Given the description of an element on the screen output the (x, y) to click on. 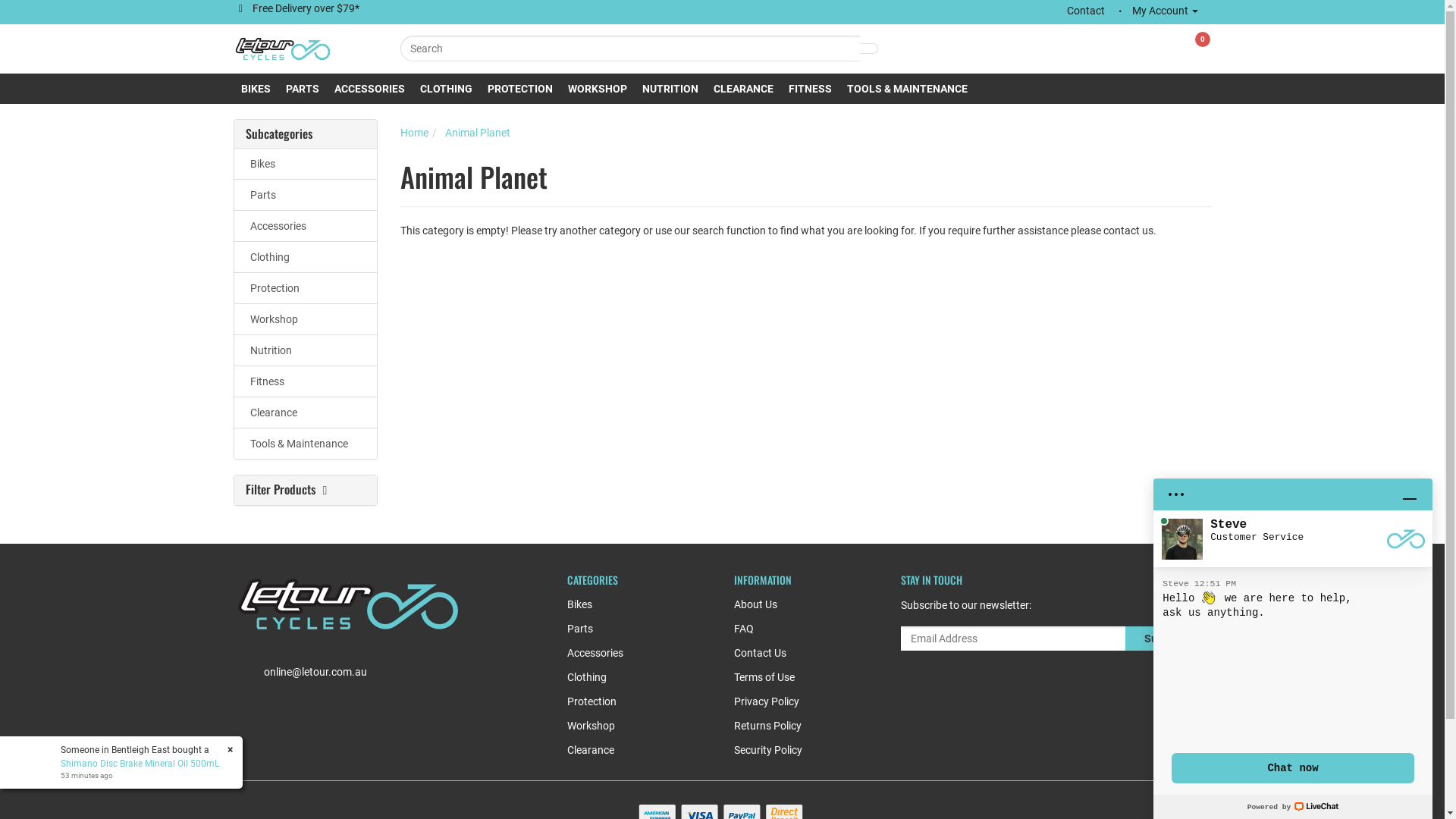
Parts Element type: text (632, 632)
FAQ Element type: text (799, 632)
  Parts Element type: text (304, 194)
NUTRITION Element type: text (669, 88)
BIKES Element type: text (255, 88)
FITNESS Element type: text (810, 88)
ACCESSORIES Element type: text (368, 88)
Filter Products Element type: text (305, 490)
  Workshop Element type: text (304, 318)
0 Element type: text (1202, 32)
TOOLS & MAINTENANCE Element type: text (906, 88)
PARTS Element type: text (301, 88)
Home Element type: text (414, 132)
WORKSHOP Element type: text (596, 88)
Search Element type: text (867, 48)
  Accessories Element type: text (304, 225)
Returns Policy Element type: text (799, 729)
  Protection Element type: text (304, 287)
  Clothing Element type: text (304, 256)
About Us Element type: text (799, 607)
Clothing Element type: text (632, 680)
Terms of Use Element type: text (799, 680)
CLEARANCE Element type: text (742, 88)
Security Policy Element type: text (799, 753)
CLOTHING Element type: text (446, 88)
Privacy Policy Element type: text (799, 704)
online@letour.com.au Element type: text (315, 671)
Contact Element type: text (1084, 10)
Animal Planet Element type: text (476, 132)
  Bikes Element type: text (304, 163)
Bikes Element type: text (632, 607)
Contact Us Element type: text (799, 656)
Protection Element type: text (632, 704)
Subcategories Element type: text (305, 134)
Le Tour Cycles Element type: hover (282, 47)
Subscribe Element type: text (1168, 638)
  Tools & Maintenance Element type: text (304, 442)
Workshop Element type: text (632, 729)
Clearance Element type: text (632, 753)
Filter By Price Element type: text (277, 650)
  Clearance Element type: text (304, 411)
PROTECTION Element type: text (519, 88)
  Fitness Element type: text (304, 380)
  Nutrition Element type: text (304, 349)
Accessories Element type: text (632, 656)
My Account Element type: text (1164, 10)
